Given the description of an element on the screen output the (x, y) to click on. 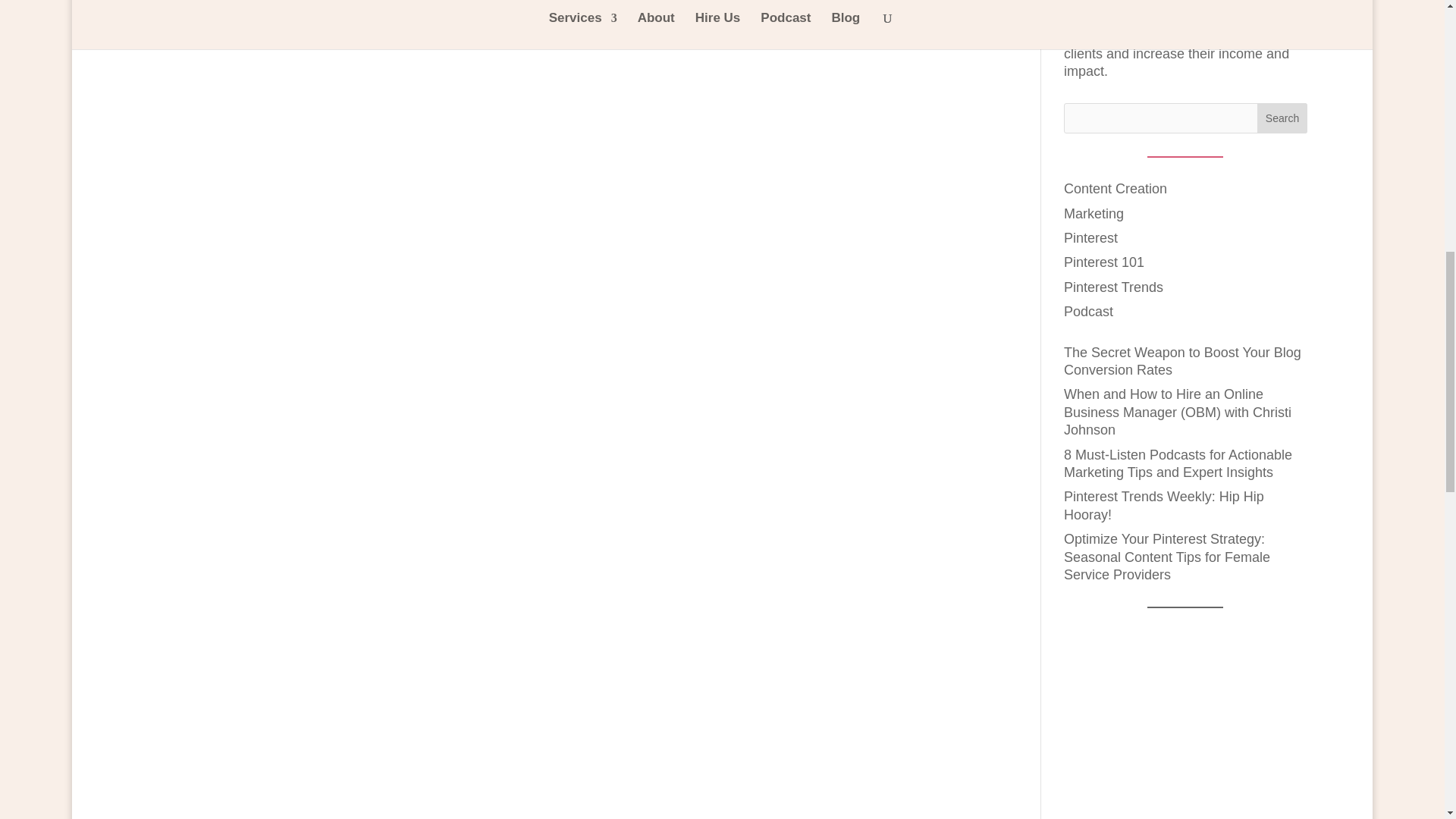
Pinterest Trends (1113, 287)
Content Creation (1115, 188)
Search (1282, 118)
Podcast (1088, 311)
Pinterest 101 (1104, 262)
The Secret Weapon to Boost Your Blog Conversion Rates (1182, 360)
Pinterest (1091, 237)
Marketing (1094, 213)
